Given the description of an element on the screen output the (x, y) to click on. 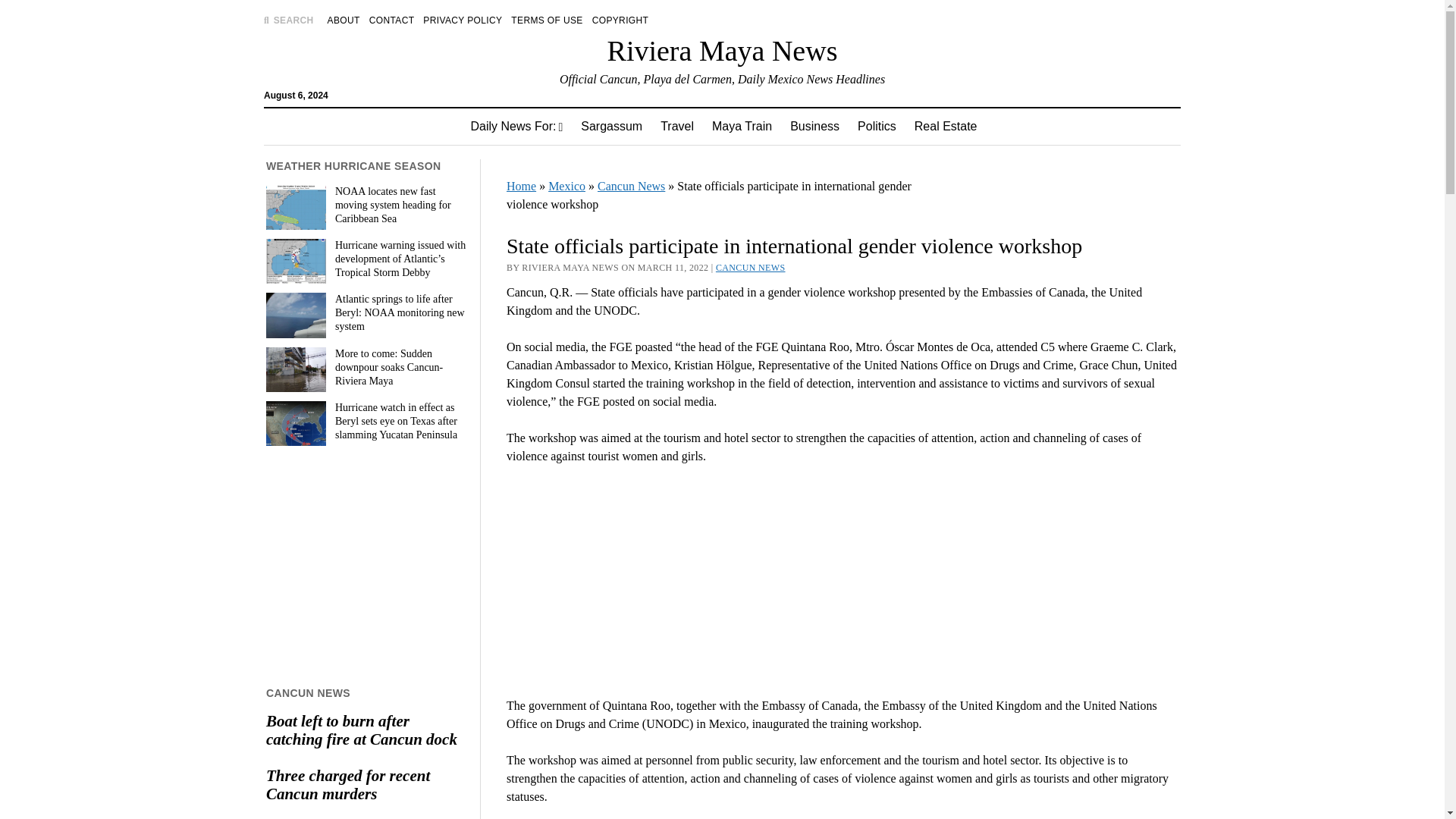
PRIVACY POLICY (462, 20)
View all posts in Cancun News (751, 267)
SEARCH (288, 20)
Search (945, 129)
Sargassum (611, 126)
COPYRIGHT (620, 20)
TERMS OF USE (546, 20)
Maya Train (741, 126)
Travel (676, 126)
Riviera Maya News (722, 50)
ABOUT (343, 20)
Business (814, 126)
CONTACT (391, 20)
Daily News For: (516, 126)
